Given the description of an element on the screen output the (x, y) to click on. 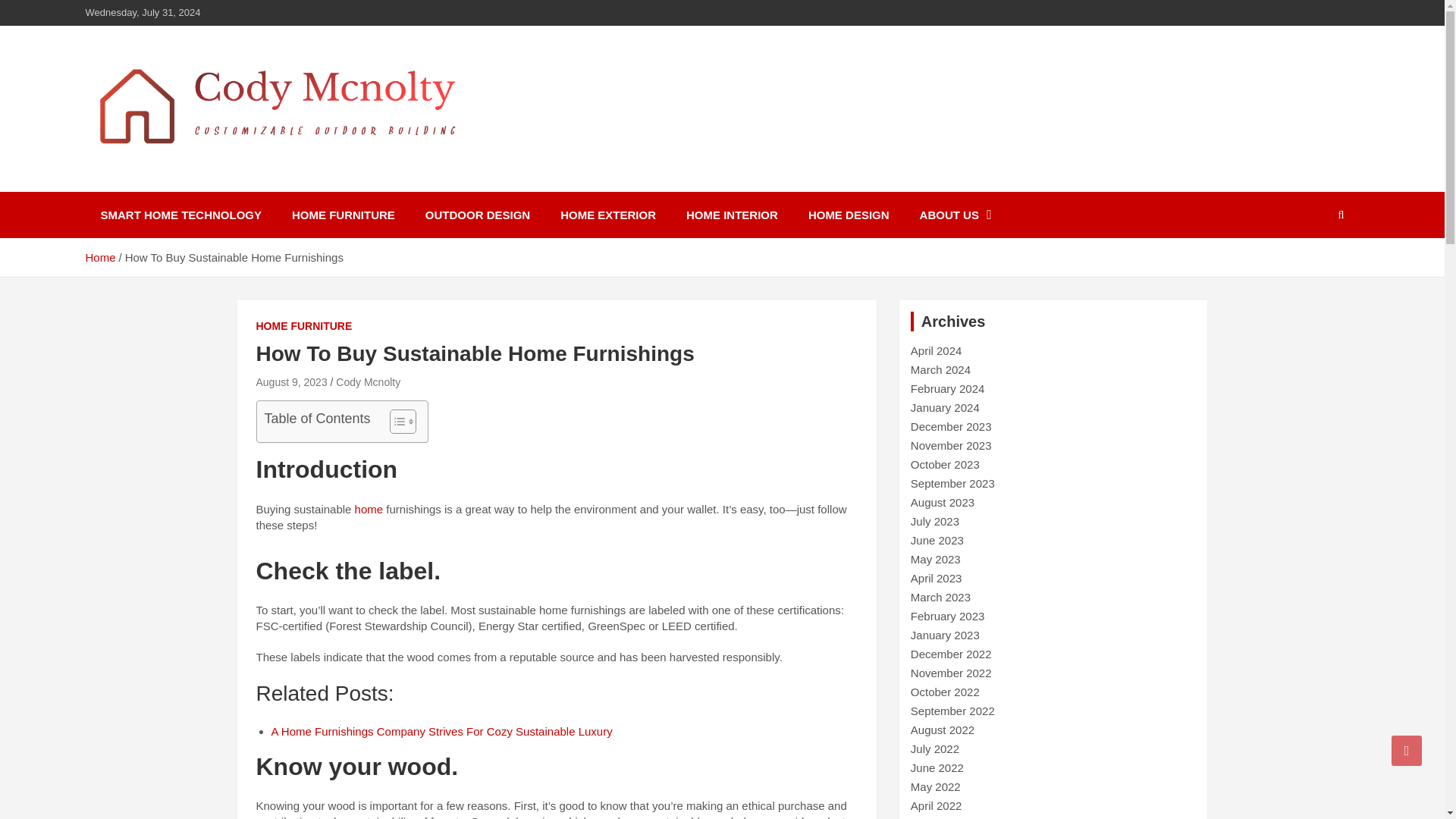
Cody Mcnolty (368, 381)
ABOUT US (955, 214)
March 2024 (941, 369)
HOME FURNITURE (343, 214)
HOME FURNITURE (304, 326)
Cody Mcnolty (183, 181)
February 2024 (948, 388)
Home (99, 256)
OUTDOOR DESIGN (477, 214)
April 2024 (936, 350)
HOME INTERIOR (732, 214)
HOME EXTERIOR (607, 214)
August 9, 2023 (291, 381)
home (371, 508)
